Given the description of an element on the screen output the (x, y) to click on. 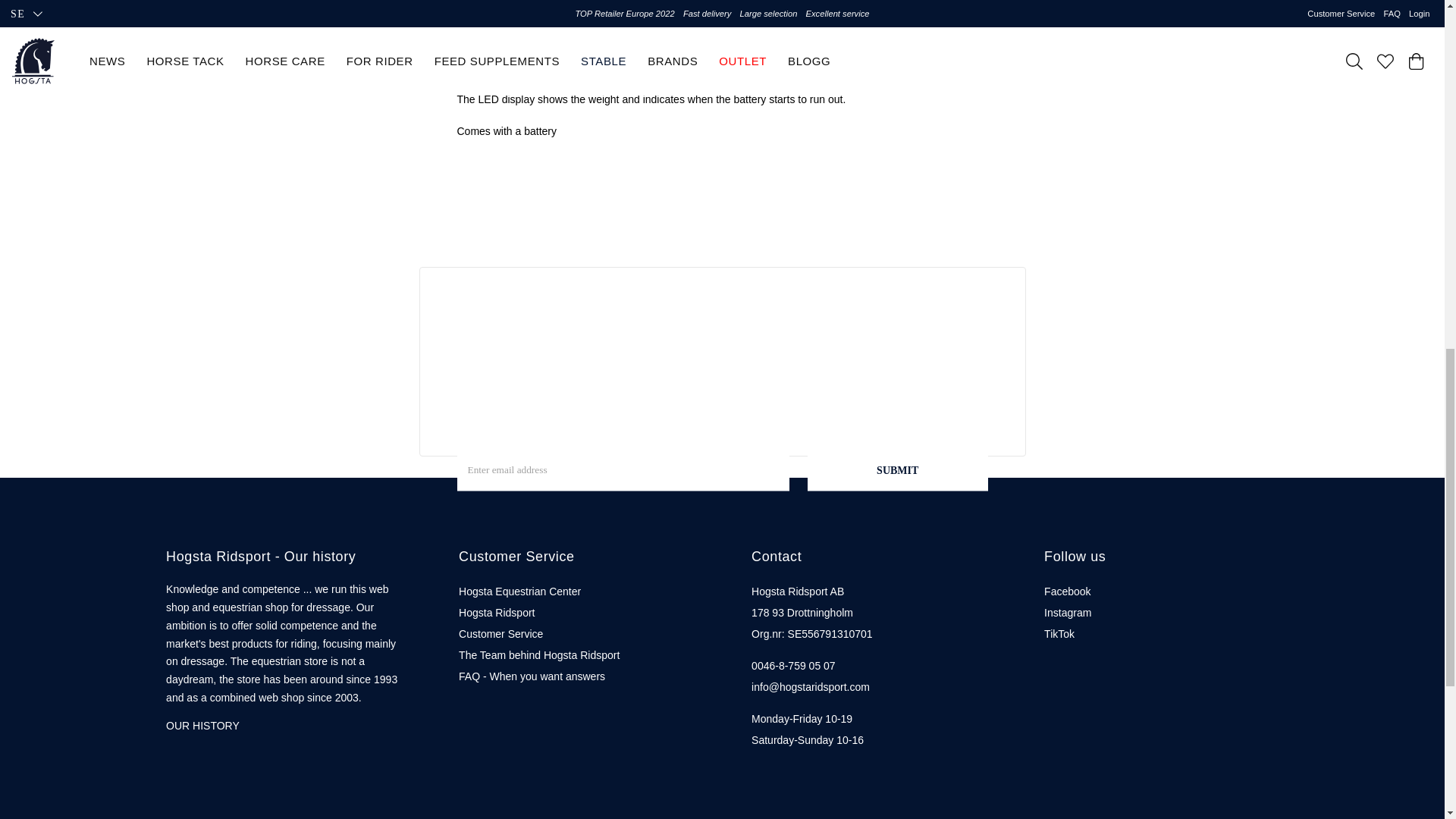
Hogsta Ridsport (496, 612)
OUR HISTORY (202, 725)
0046-8-759 05 07 (793, 665)
Facebook (1066, 591)
Instagram (1066, 612)
FAQ - When you want answers (531, 676)
SUBMIT (898, 469)
Hogsta Equestrian Center (519, 591)
The Team behind Hogsta Ridsport (539, 654)
Customer Service (500, 633)
